Given the description of an element on the screen output the (x, y) to click on. 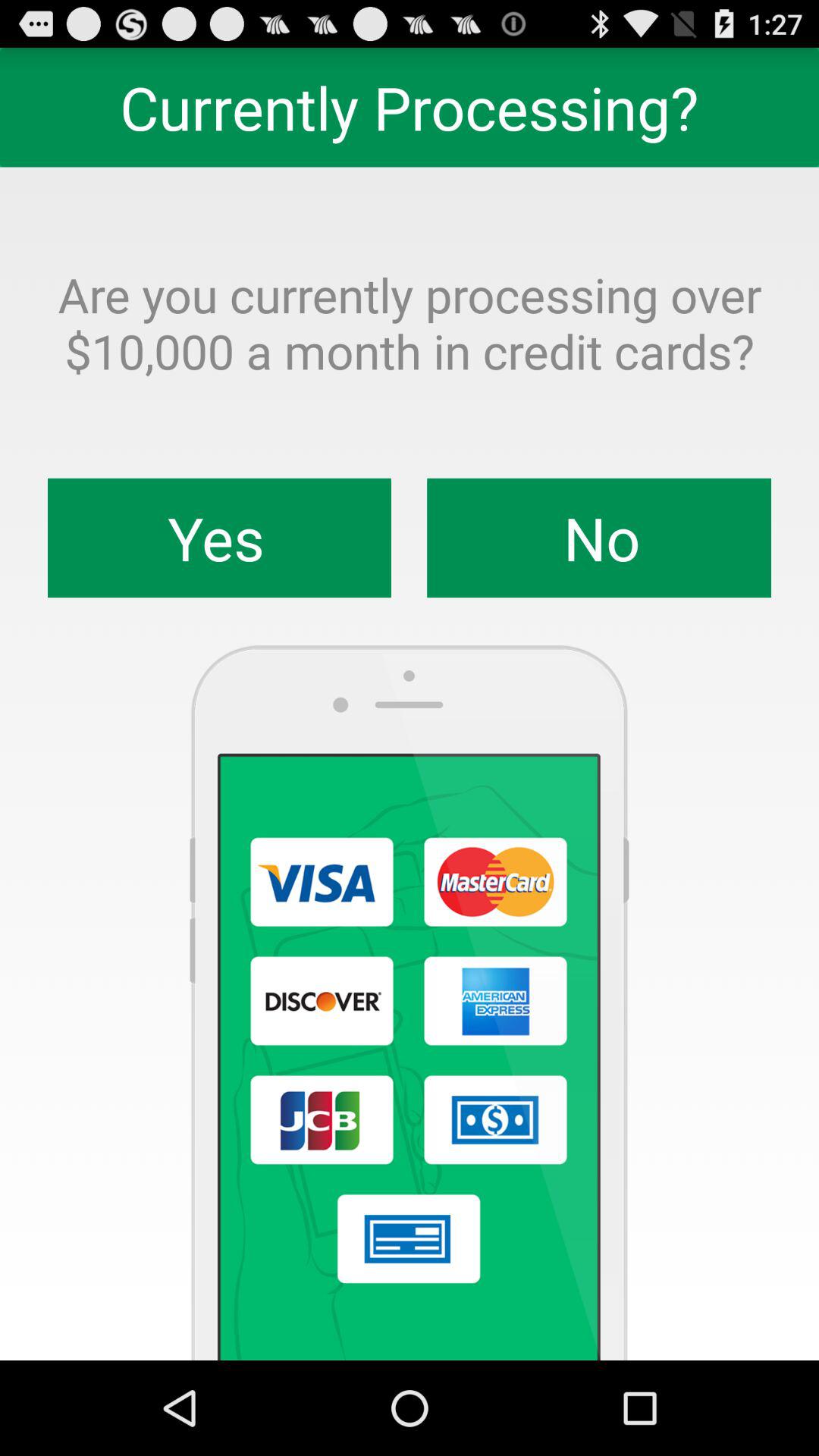
click the icon to the left of the no icon (219, 537)
